Given the description of an element on the screen output the (x, y) to click on. 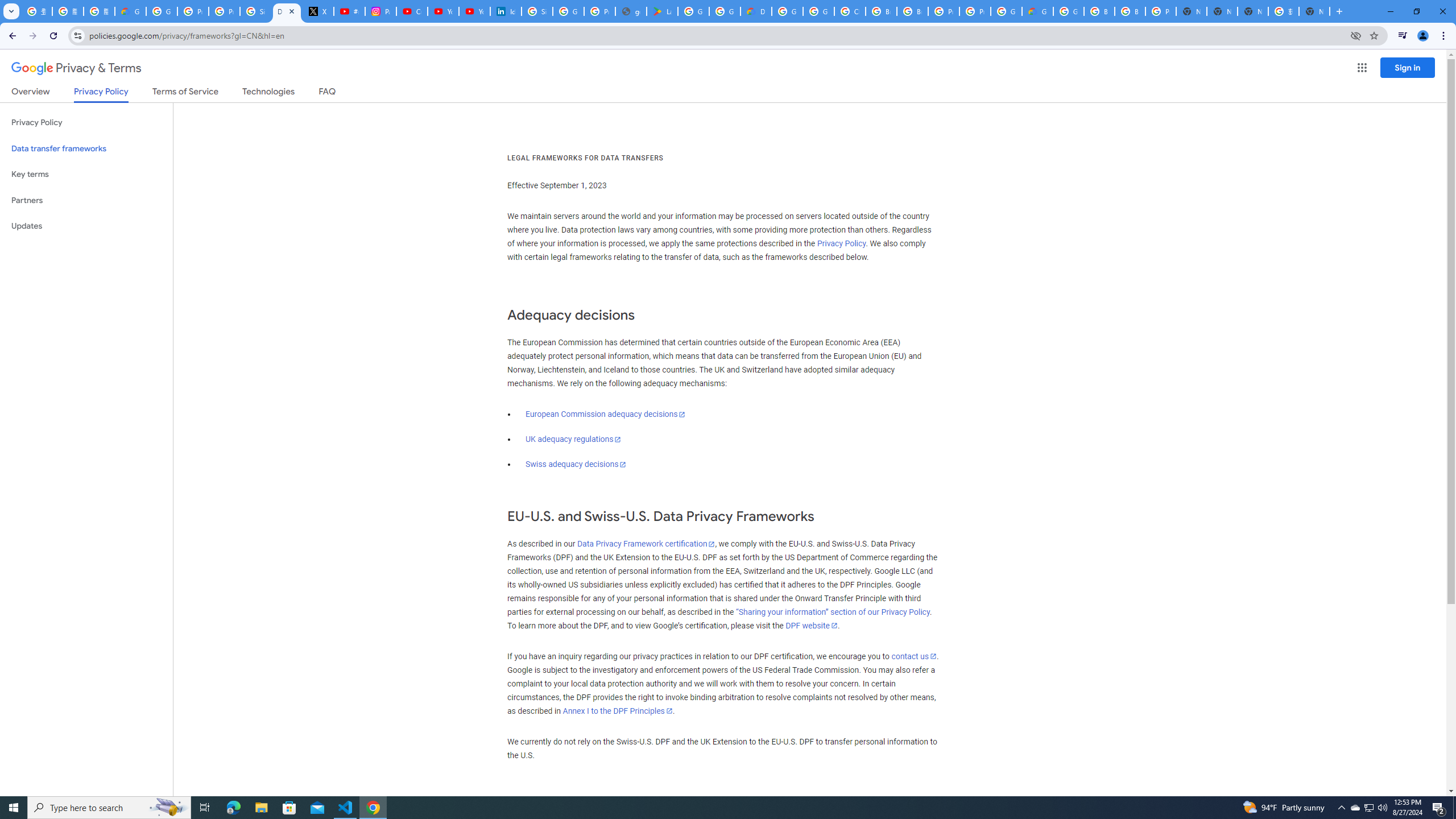
Privacy Help Center - Policies Help (192, 11)
DPF website (810, 625)
Google Cloud Platform (787, 11)
Annex I to the DPF Principles (617, 710)
European Commission adequacy decisions (605, 414)
Google Cloud Estimate Summary (1037, 11)
Privacy Help Center - Policies Help (223, 11)
Sign in - Google Accounts (255, 11)
Google Workspace - Specific Terms (724, 11)
X (318, 11)
Data Privacy Framework certification (645, 543)
